Given the description of an element on the screen output the (x, y) to click on. 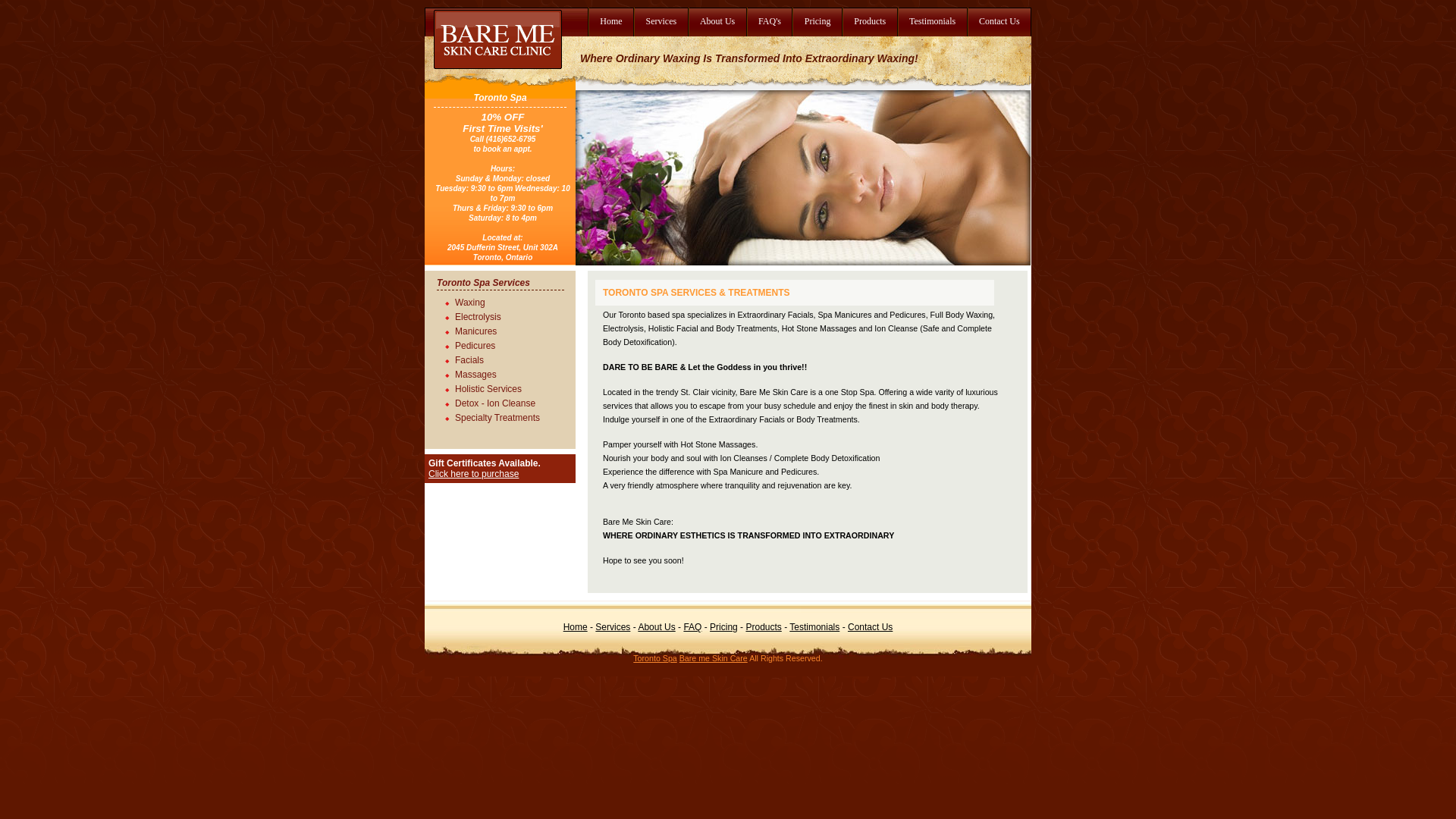
Home Element type: text (575, 626)
Waxing Element type: text (511, 300)
Massages Element type: text (511, 372)
About Us Element type: text (716, 21)
Products Element type: text (869, 21)
Pedicures Element type: text (511, 343)
Manicures Element type: text (511, 329)
Products Element type: text (763, 626)
Bare me Skin Care Element type: text (713, 657)
Electrolysis Element type: text (511, 314)
Testimonials Element type: text (931, 21)
Services Element type: text (660, 21)
Click here to purchase Element type: text (473, 473)
FAQ Element type: text (692, 626)
Toronto Spa Element type: text (654, 657)
FAQ's Element type: text (769, 21)
Home Element type: text (610, 21)
Holistic Services Element type: text (511, 386)
About Us Element type: text (655, 626)
Contact Us Element type: text (998, 21)
Specialty Treatments Element type: text (511, 415)
Pricing Element type: text (815, 21)
Pricing Element type: text (723, 626)
Detox - Ion Cleanse Element type: text (511, 401)
Contact Us Element type: text (869, 626)
Services Element type: text (612, 626)
Testimonials Element type: text (814, 626)
Facials Element type: text (511, 358)
